Given the description of an element on the screen output the (x, y) to click on. 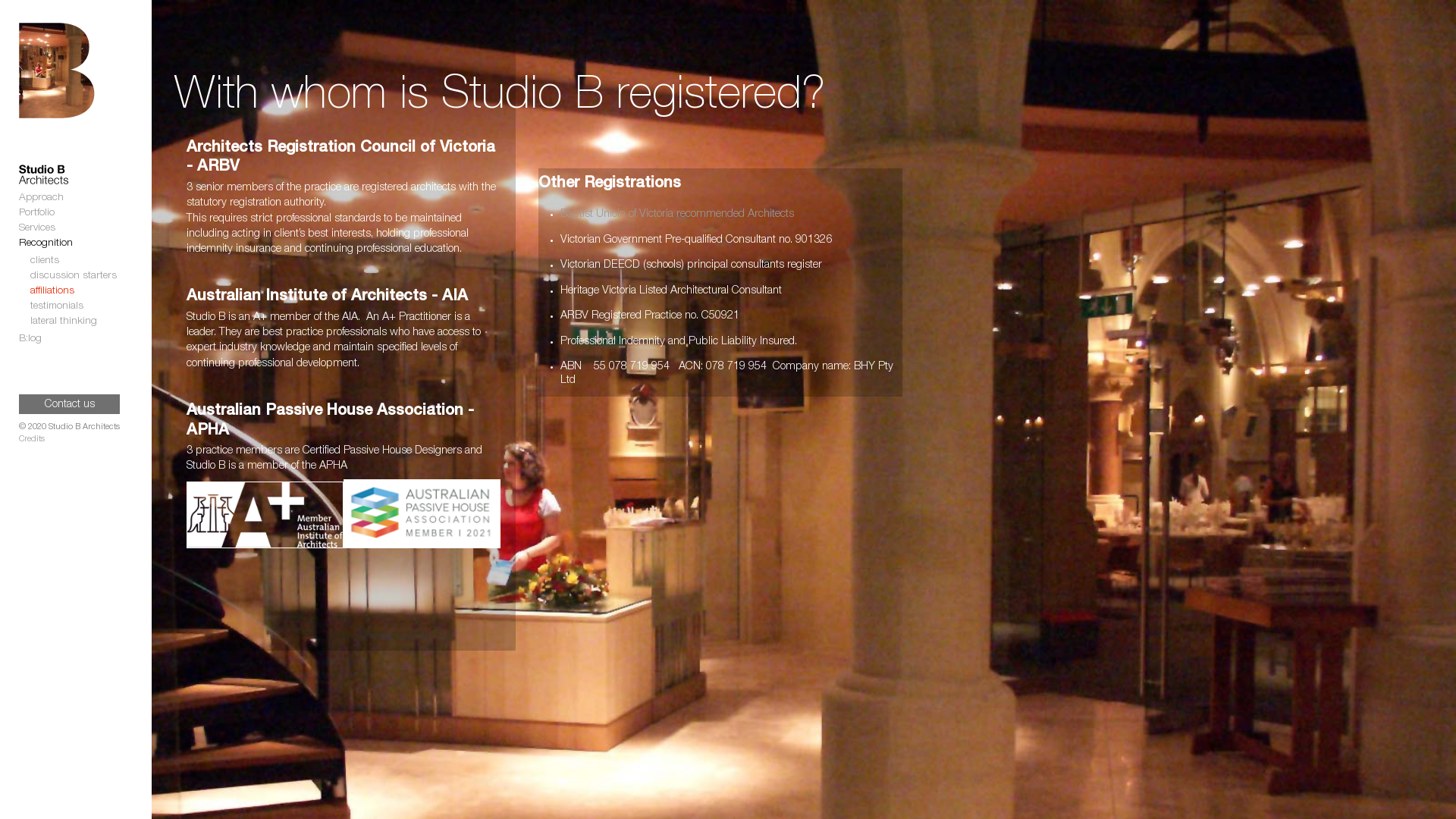
Services Element type: text (36, 227)
testimonials Element type: text (56, 306)
Credits Element type: text (68, 439)
Portfolio Element type: text (36, 212)
affiliations Element type: text (52, 290)
Baptist Unioin of Victoria recommended Architects Element type: text (676, 214)
Approach Element type: text (40, 197)
lateral thinking Element type: text (63, 321)
clients Element type: text (44, 260)
Skip to main content Element type: text (694, 1)
B:log Element type: text (29, 338)
discussion starters Element type: text (73, 275)
Recognition Element type: text (45, 243)
Contact us Element type: text (68, 404)
